Given the description of an element on the screen output the (x, y) to click on. 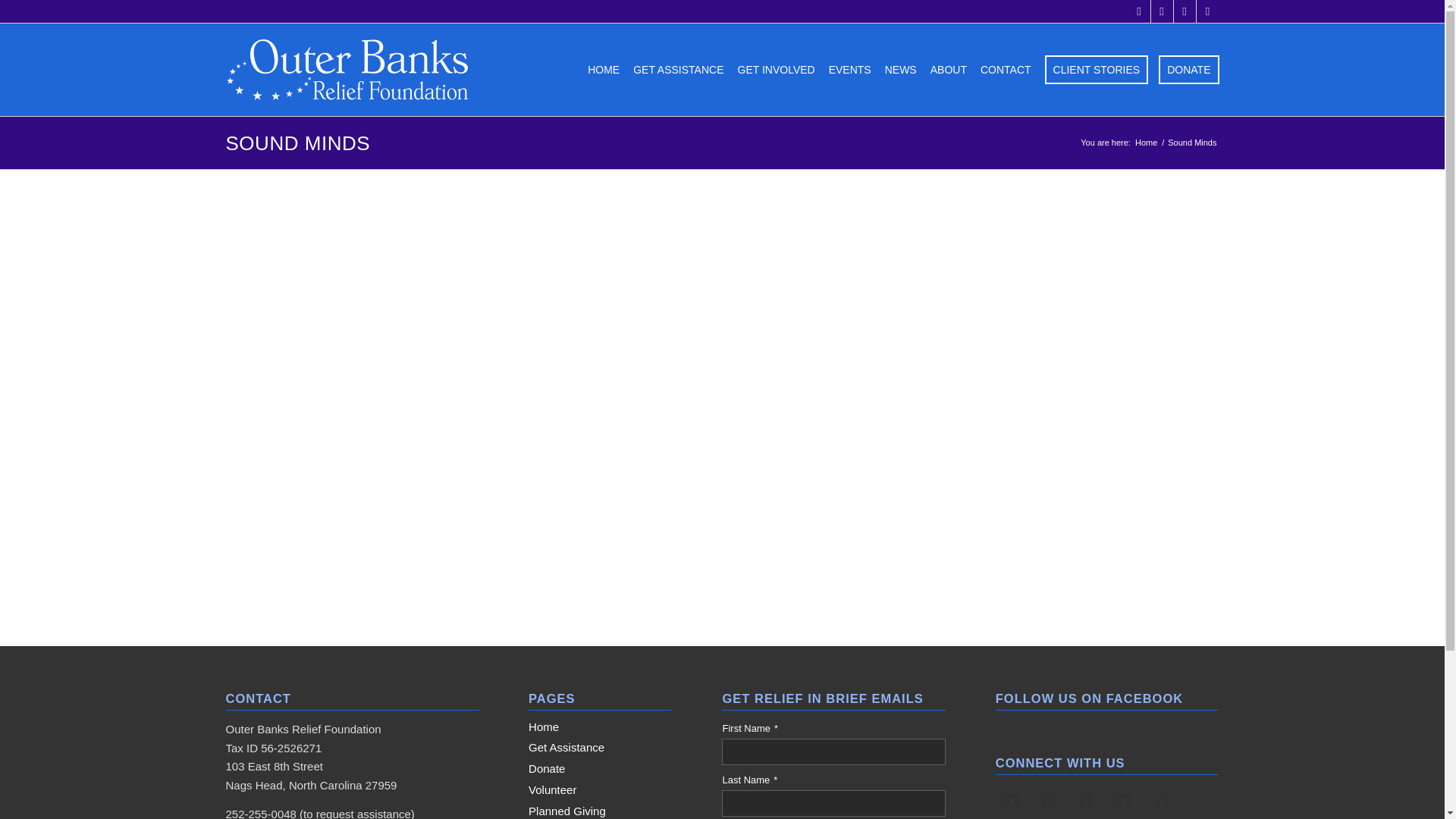
Home (600, 726)
OBRF-header-logo-bigger (346, 69)
Donate (600, 769)
Facebook (1139, 11)
X (1162, 11)
Permanent Link: Sound Minds (298, 142)
SOUND MINDS (298, 142)
Get Assistance (600, 748)
Outer Banks Relief Foundation (1145, 142)
Home (1145, 142)
